Given the description of an element on the screen output the (x, y) to click on. 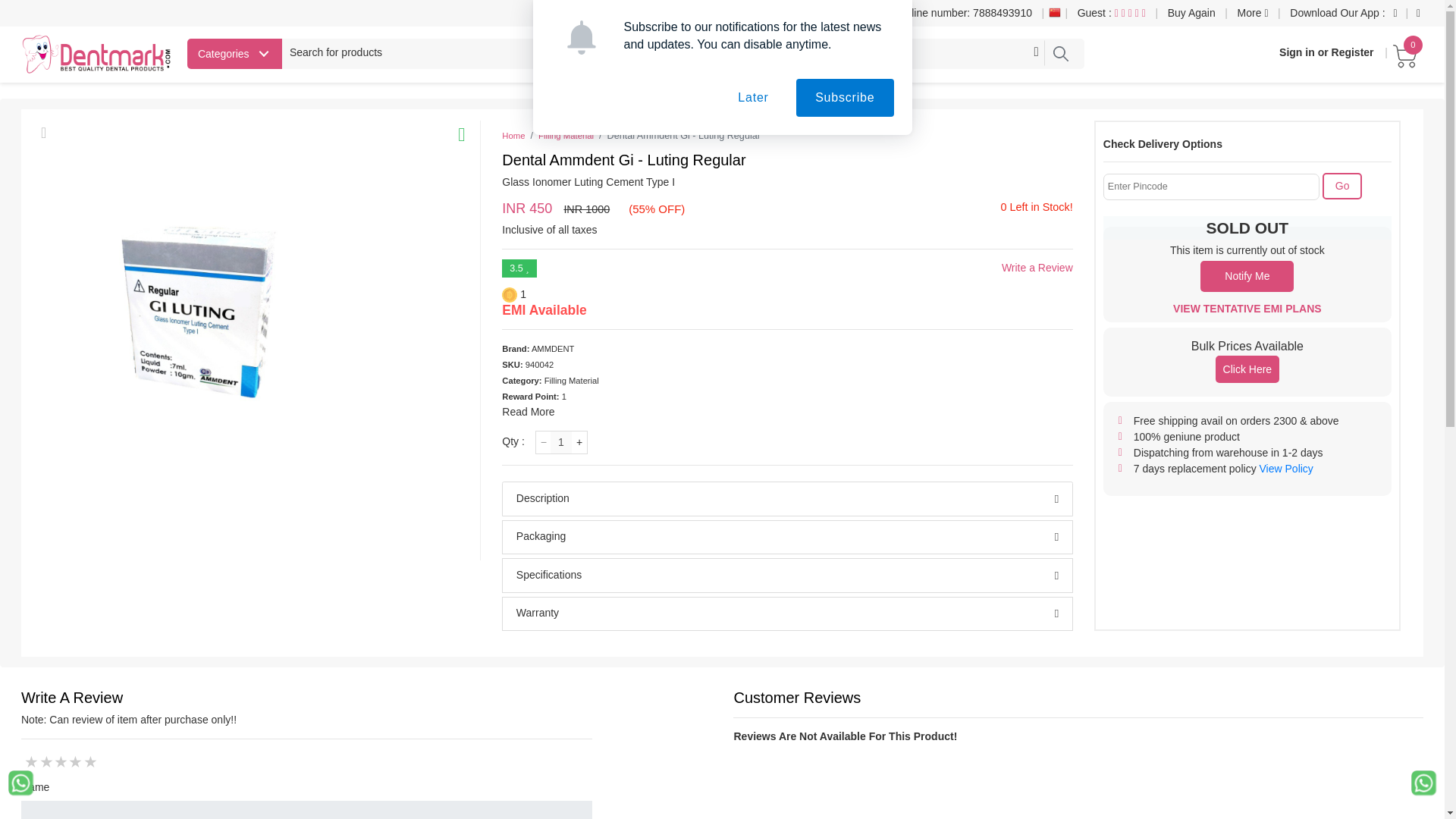
Be Our Member (835, 13)
Go (1342, 185)
1 (561, 442)
 Shop Dental Equipment Online in India - Dentmark (97, 54)
Categories (234, 53)
Buy Again (1191, 13)
Helpline number: 7888493910 (959, 13)
More (1252, 13)
Guest : (1111, 13)
Download Our App : (1337, 13)
